Given the description of an element on the screen output the (x, y) to click on. 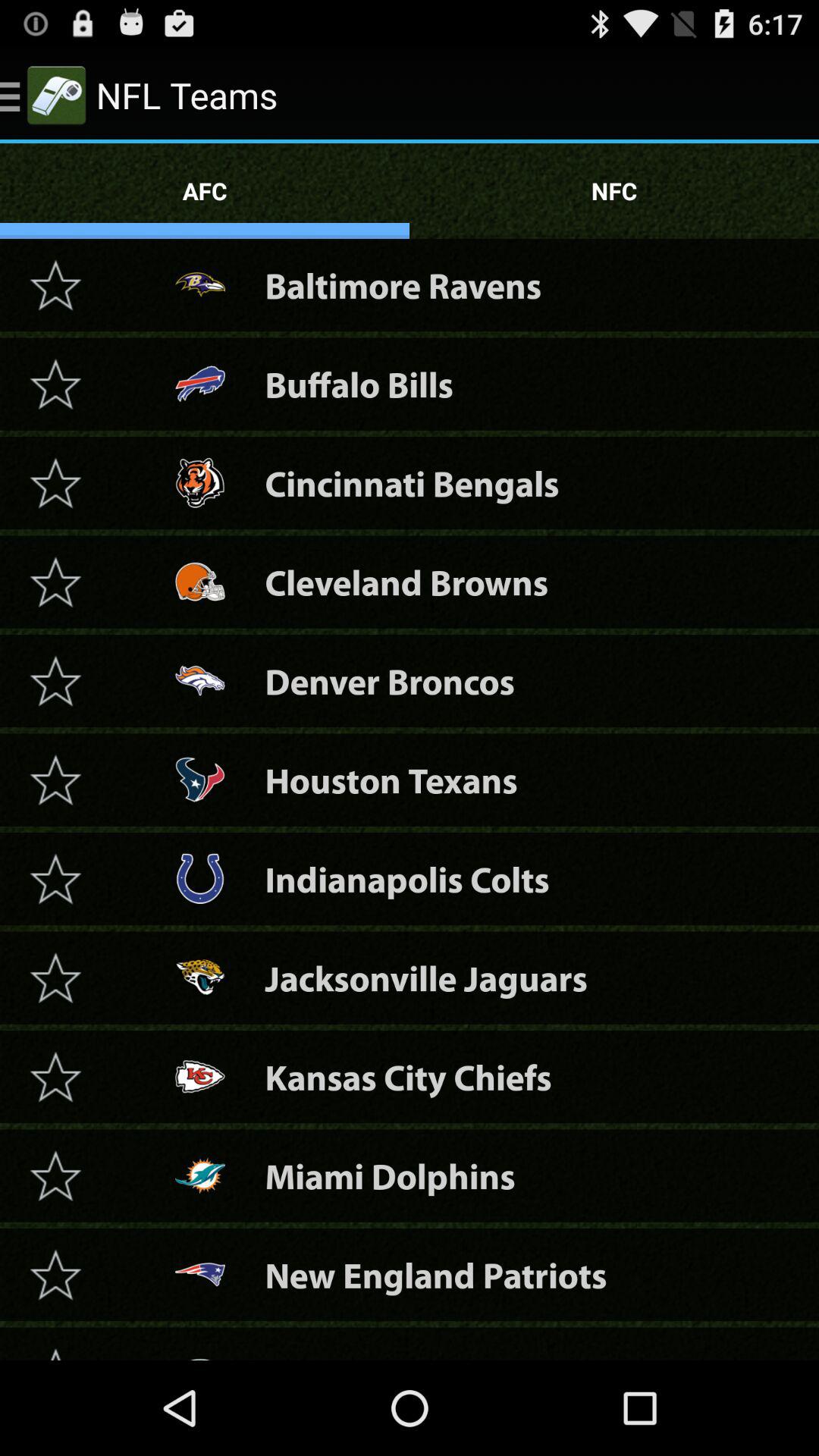
favorite the team (55, 1274)
